Given the description of an element on the screen output the (x, y) to click on. 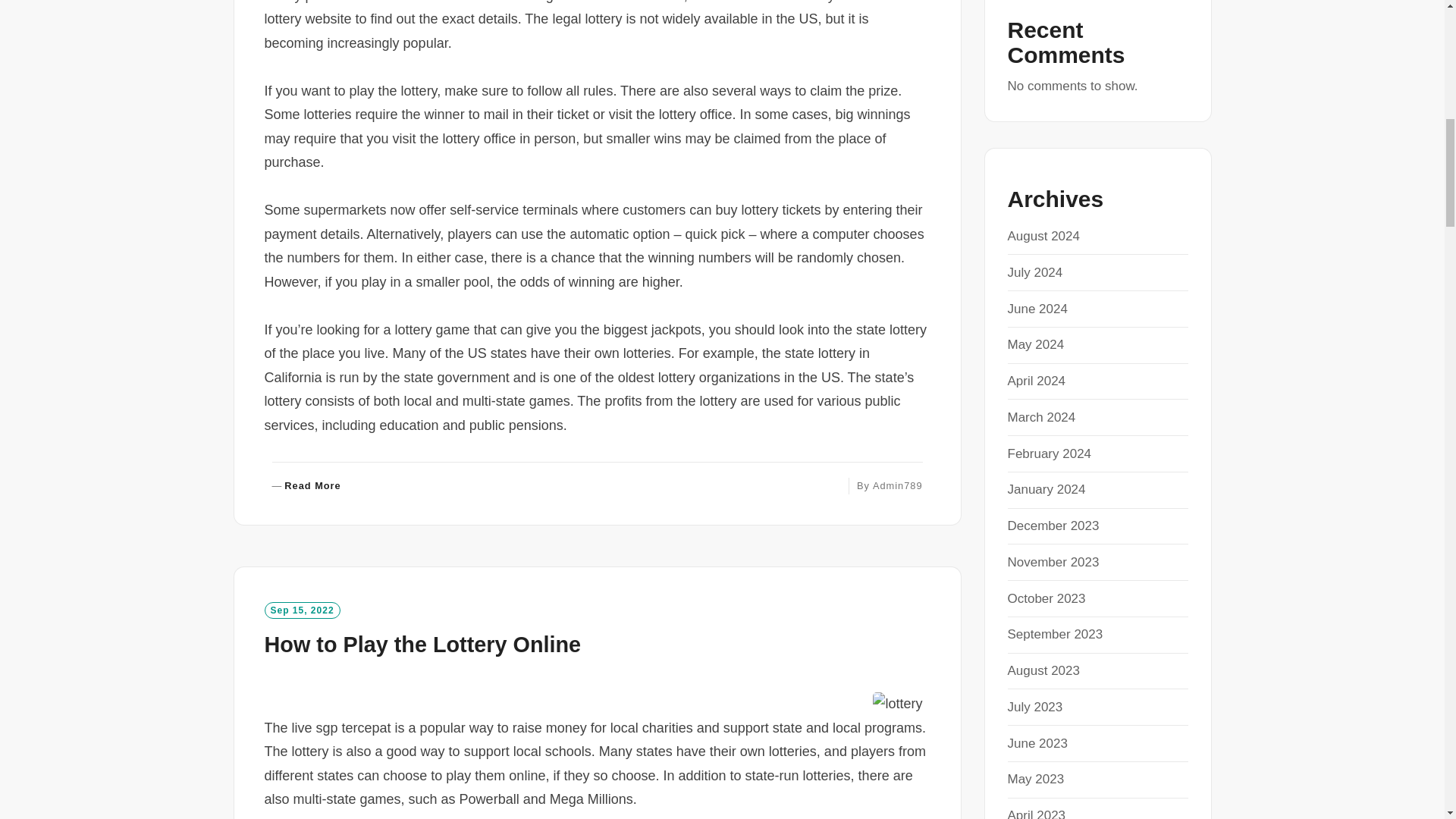
Sep 15, 2022 (301, 610)
How to Play the Lottery Online (305, 486)
Admin789 (421, 644)
